Given the description of an element on the screen output the (x, y) to click on. 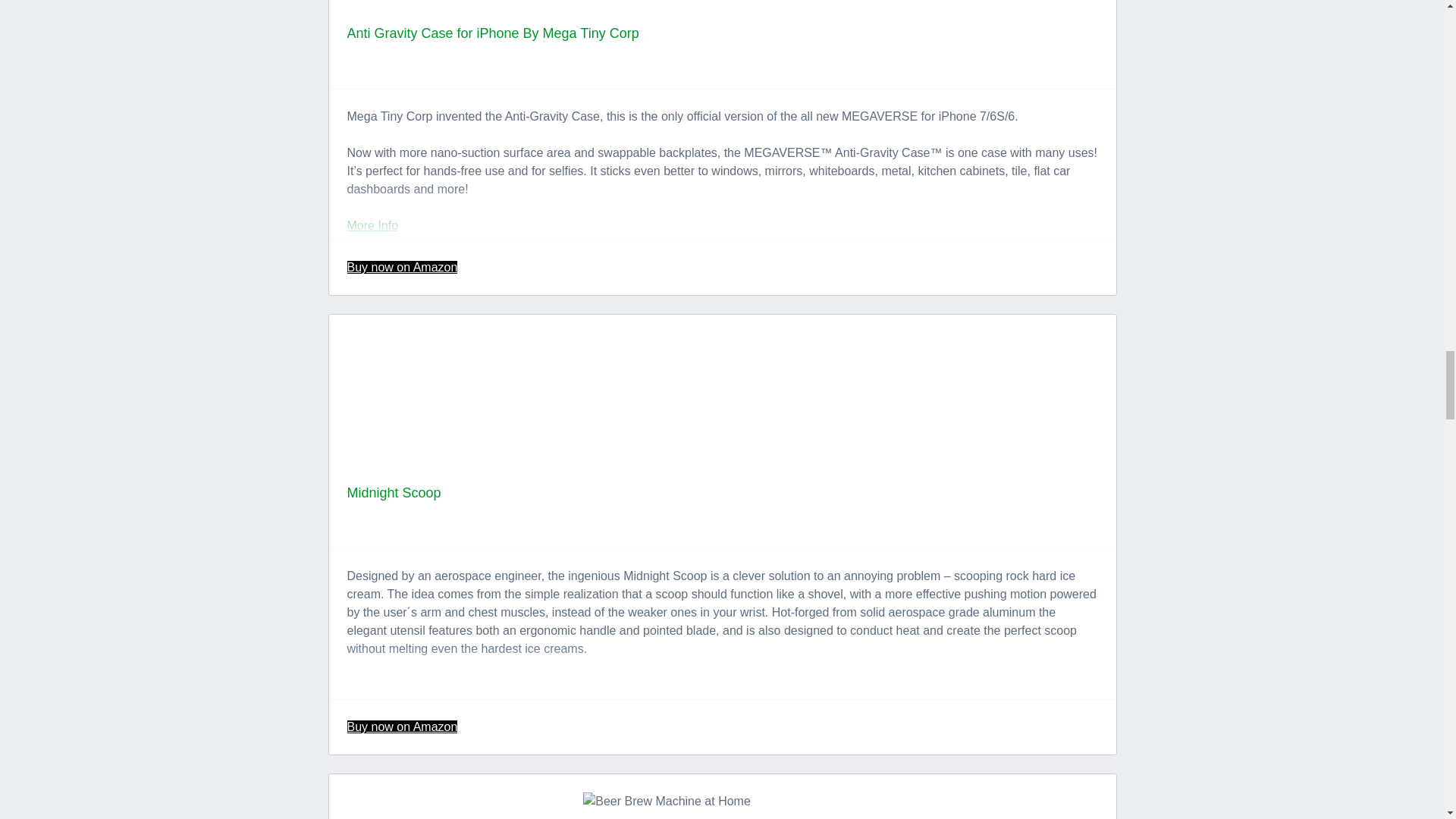
Anti Gravity Case for iPhone By Mega Tiny Corp (493, 32)
Midnight Scoop (394, 492)
Buy now on Amazon (402, 726)
Buy now on Amazon (402, 267)
More Info (372, 225)
